Given the description of an element on the screen output the (x, y) to click on. 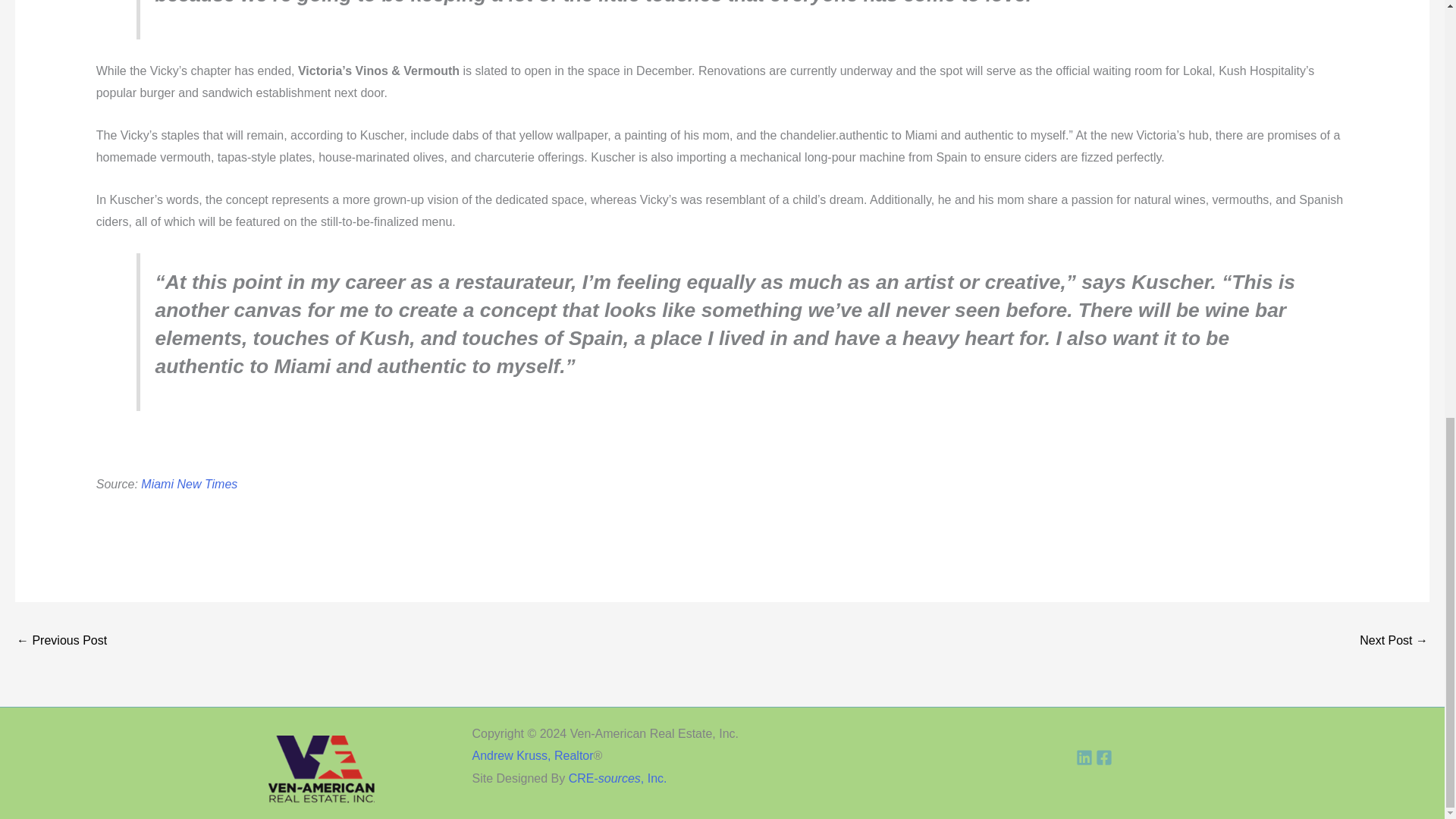
Miami New Times (189, 483)
Andrew Kruss, Realtor (531, 755)
CRE-sources, Inc. (617, 778)
